Given the description of an element on the screen output the (x, y) to click on. 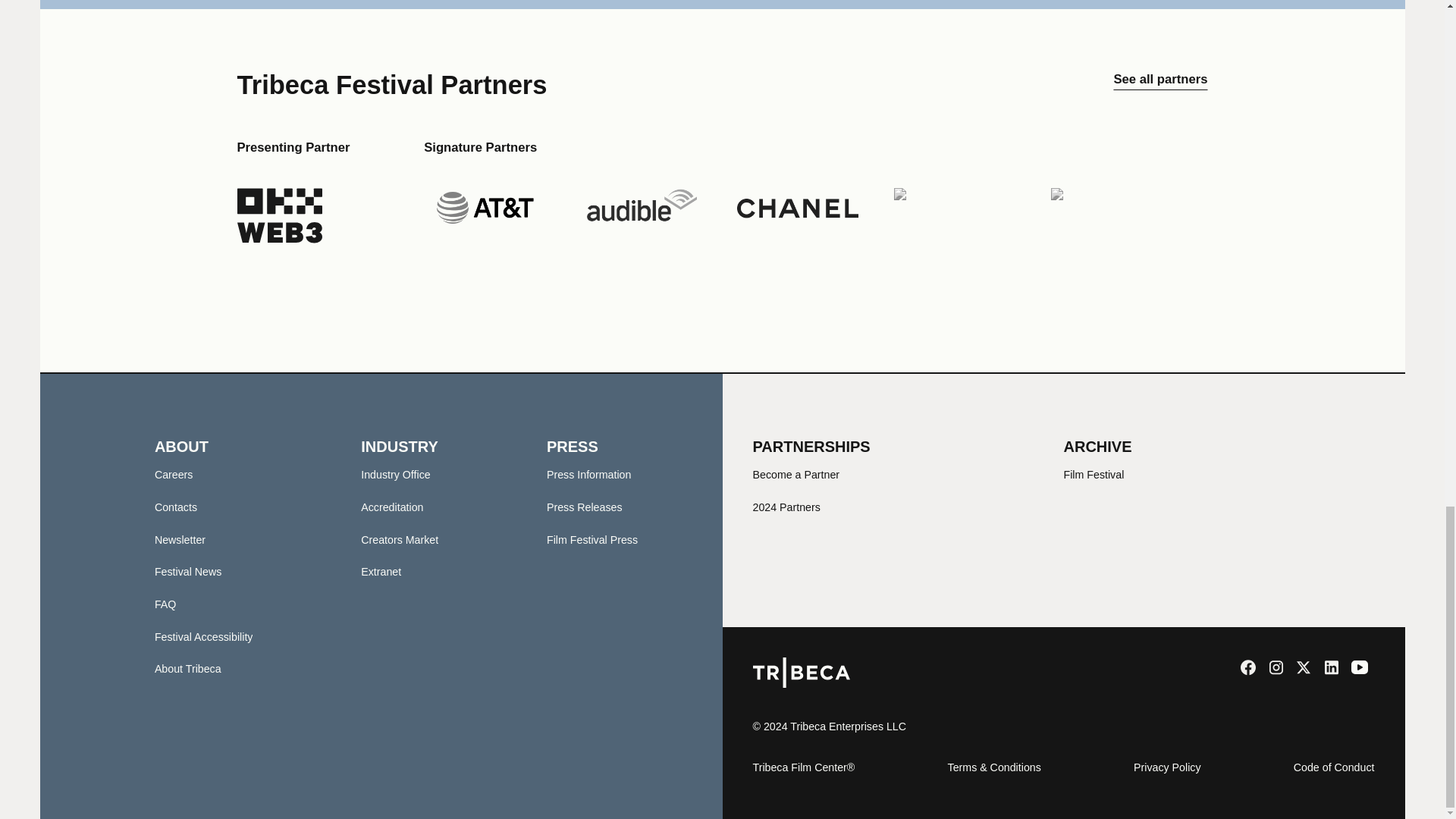
Extranet (381, 571)
FAQ (165, 604)
Careers (173, 474)
Festival Accessibility (203, 636)
Festival News (188, 571)
Accreditation (392, 507)
Contacts (175, 507)
Industry Office (395, 474)
Creators Market (399, 539)
See all partners (1160, 84)
Newsletter (179, 539)
About Tribeca (187, 668)
